Given the description of an element on the screen output the (x, y) to click on. 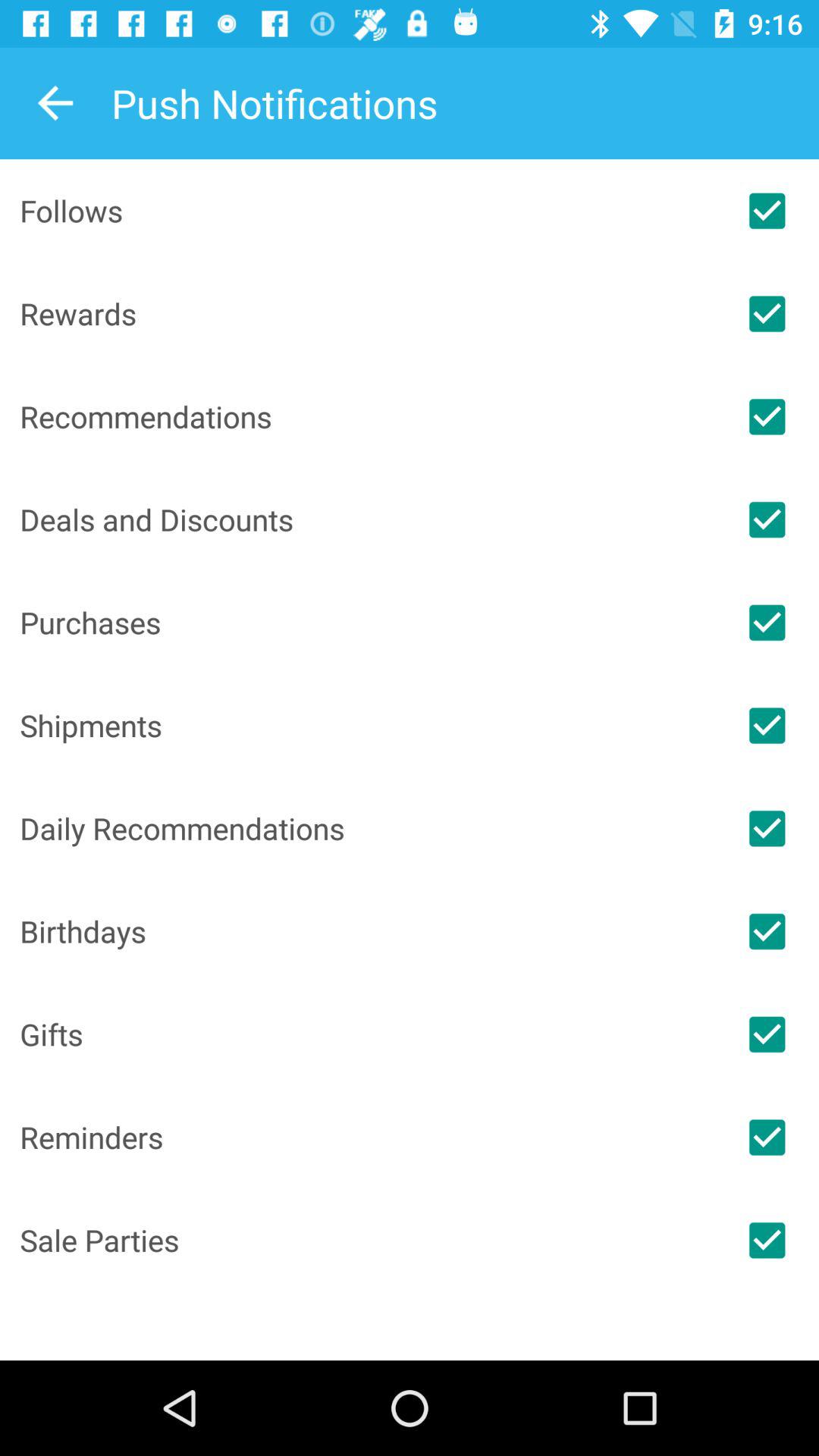
click the item above the rewards (367, 210)
